Given the description of an element on the screen output the (x, y) to click on. 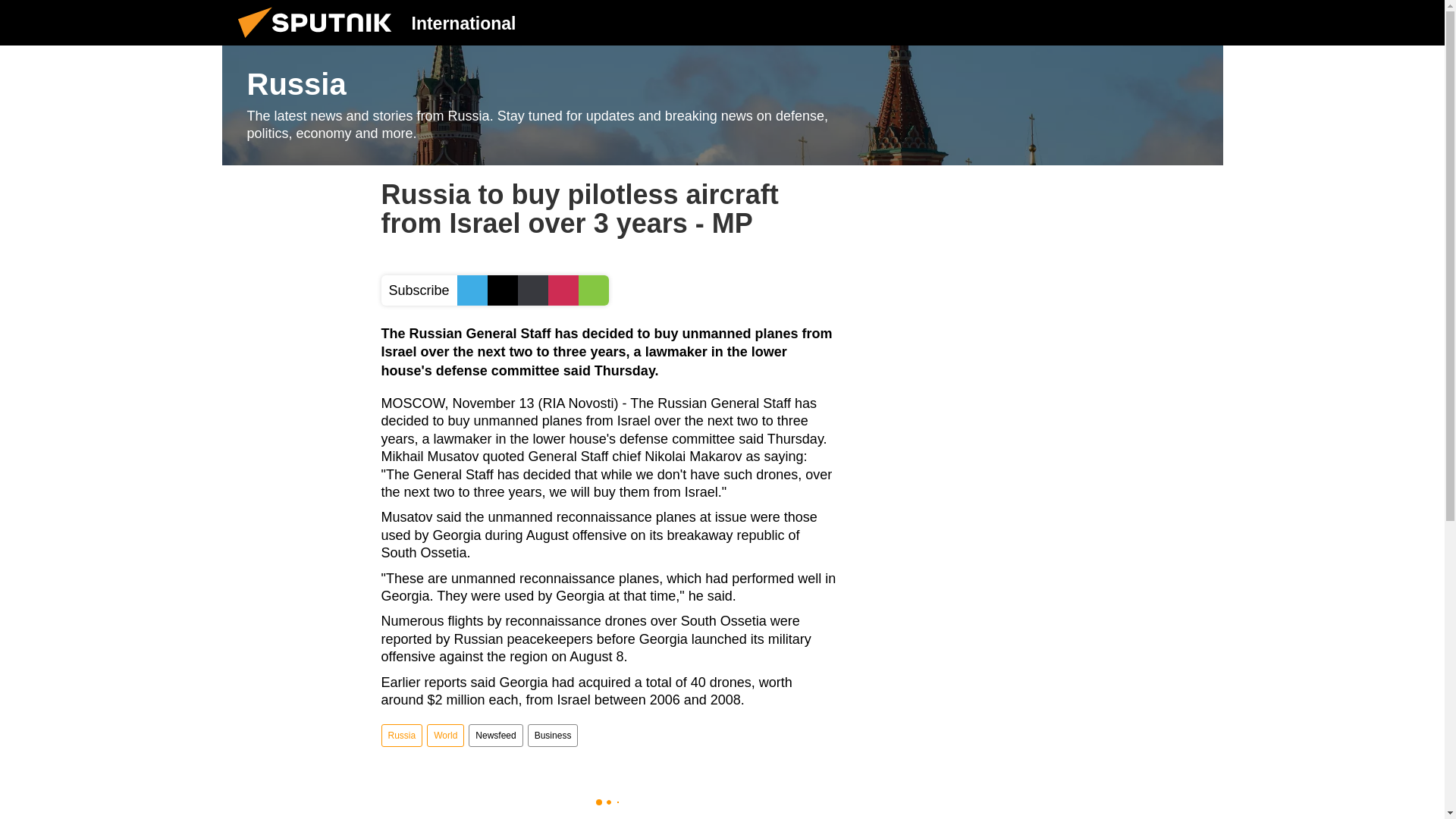
Russia (722, 105)
Authorization (1123, 22)
Sputnik International (319, 41)
Chats (1199, 22)
